Given the description of an element on the screen output the (x, y) to click on. 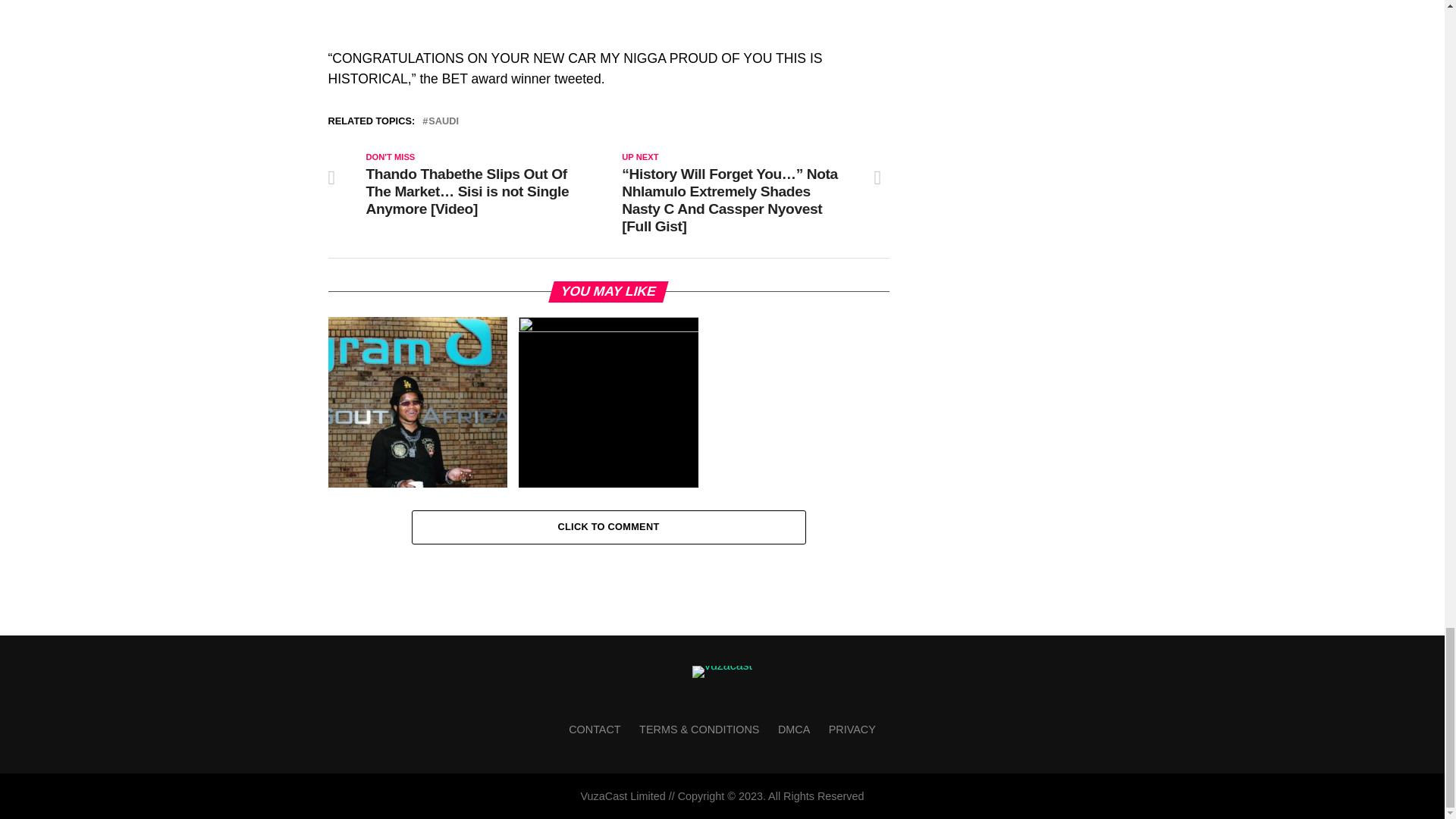
SAUDI (443, 121)
PRIVACY (852, 729)
CONTACT (594, 729)
DMCA (793, 729)
